Given the description of an element on the screen output the (x, y) to click on. 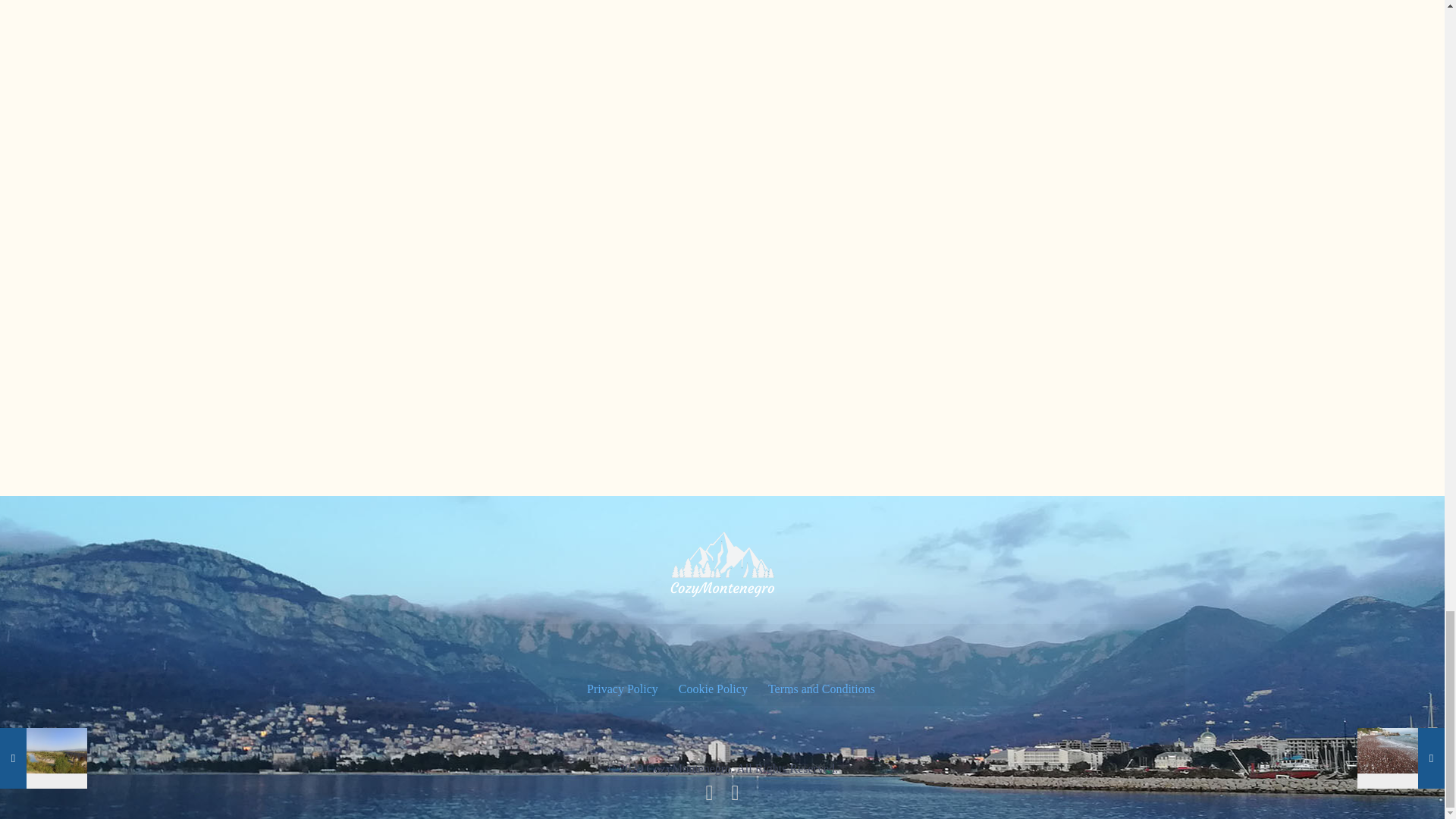
YouTube (709, 796)
Terms and Conditions (820, 689)
Instagram (735, 796)
Privacy Policy (621, 689)
Cookie Policy (712, 689)
